Given the description of an element on the screen output the (x, y) to click on. 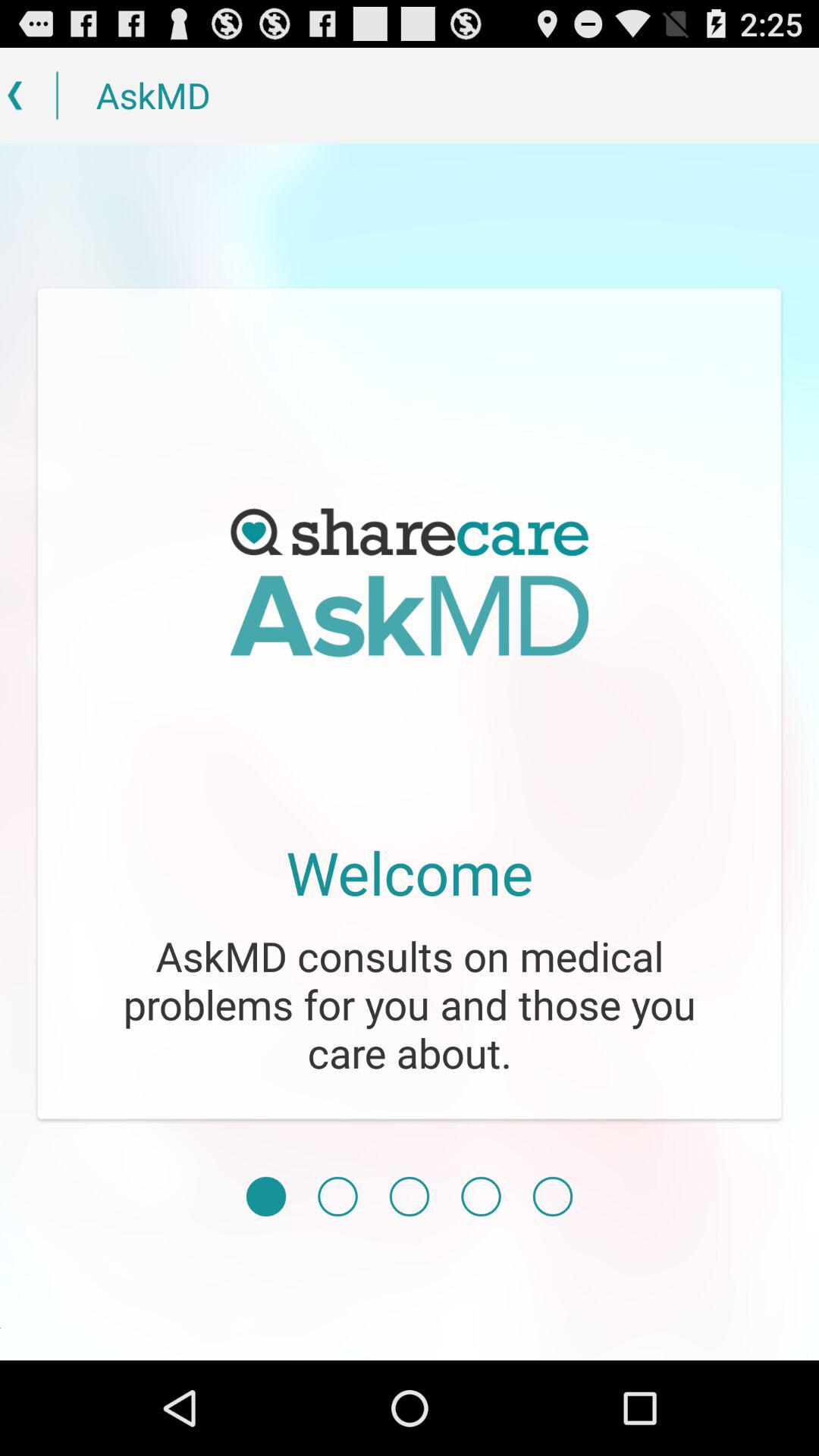
go to the next page (337, 1196)
